Given the description of an element on the screen output the (x, y) to click on. 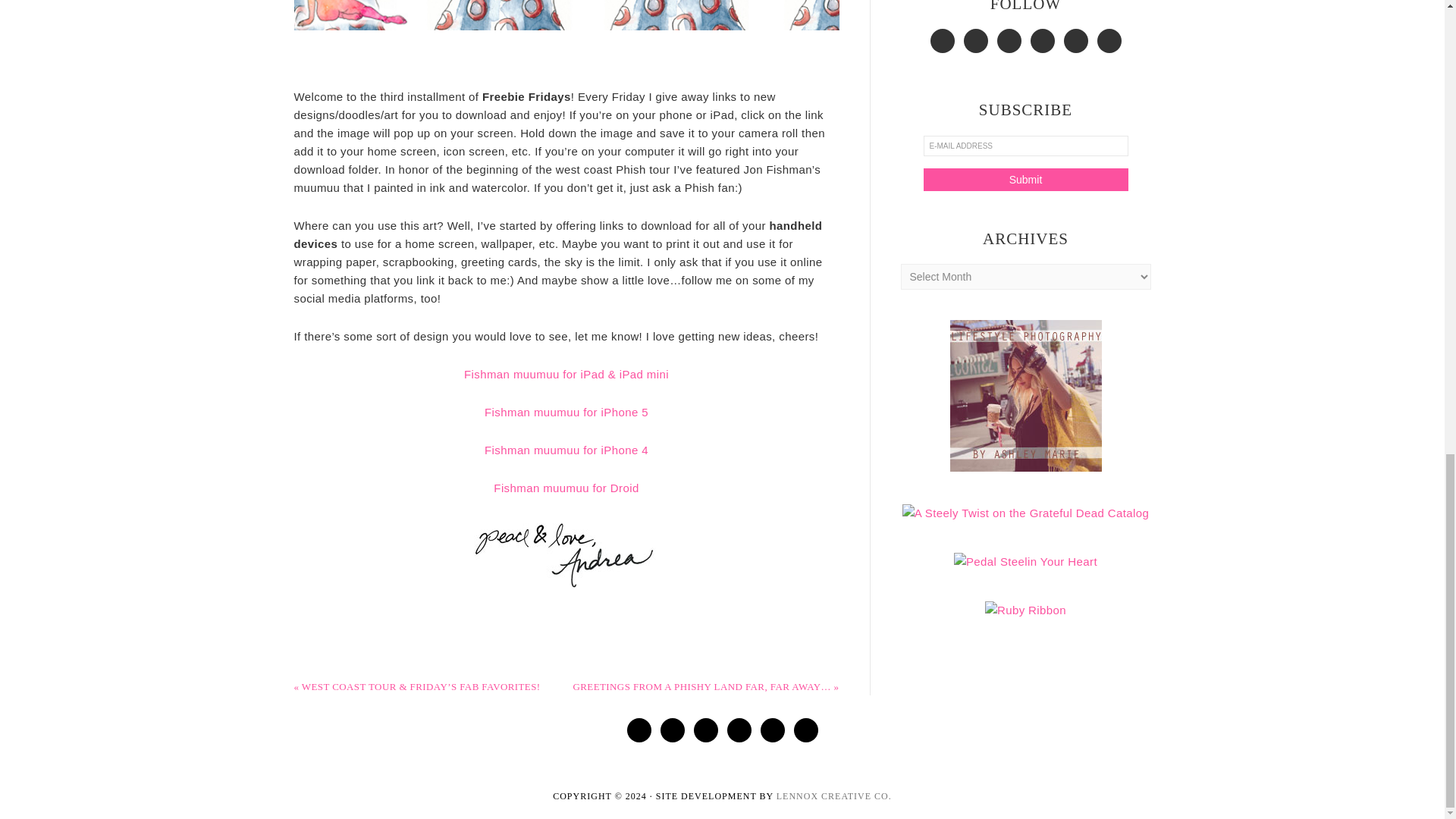
Lifestyle Photography by Ashley Marie Myers (1024, 463)
Join my Patreon for exclusive releases and BTS (1025, 609)
Submit (1025, 178)
Fishman muumuu for iPhone 5 (565, 411)
Fishman muumuu for Droid (566, 487)
Steel Your Face Sundays (1026, 512)
Submit (1025, 178)
Fishman muumuu for iPhone 4 (565, 449)
Shop Andrea Whitt Merch! (1025, 561)
